Given the description of an element on the screen output the (x, y) to click on. 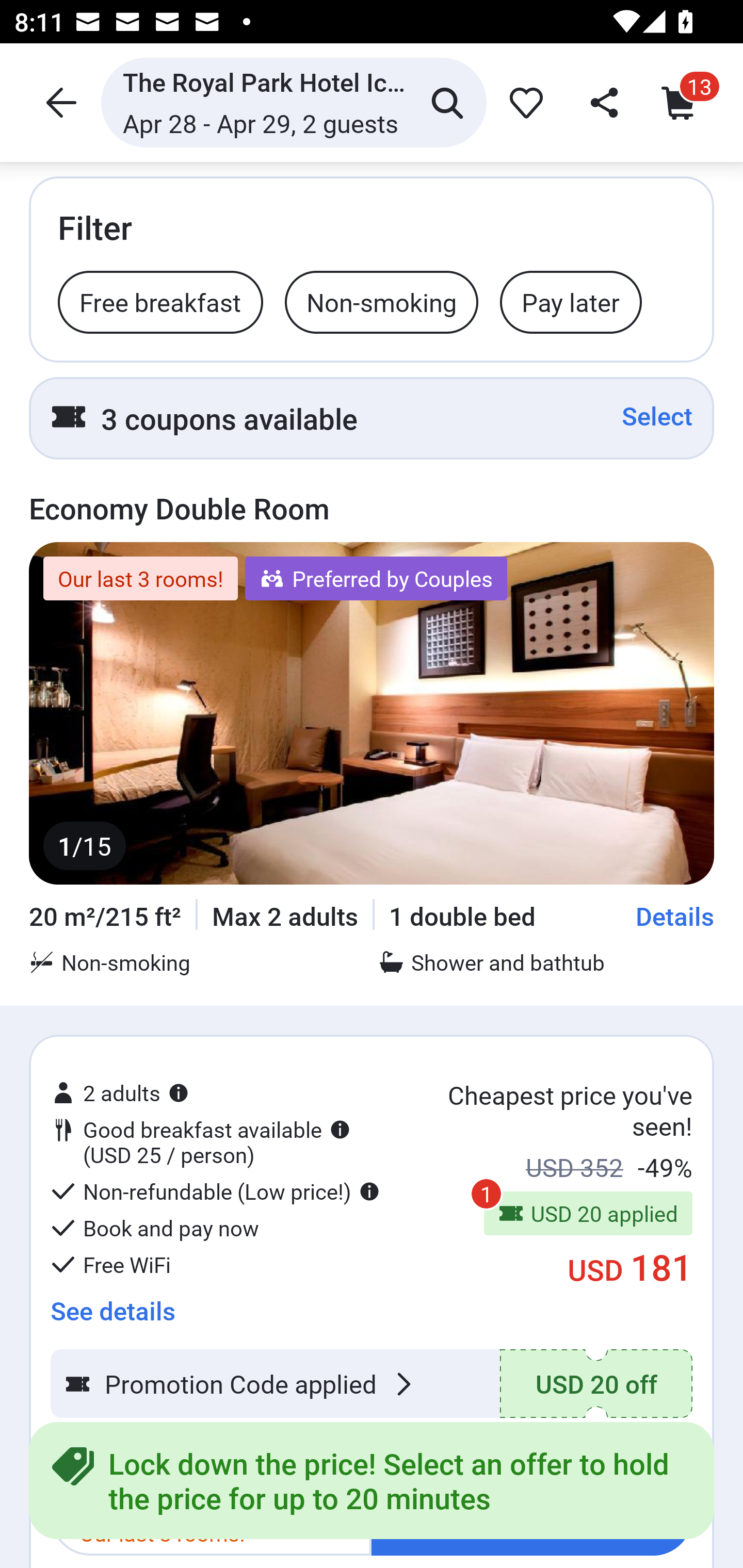
header icon (59, 102)
favorite_icon 0dbe6efb (522, 102)
share_header_icon (601, 102)
Cart icon cart_item_count 13 (683, 102)
Free breakfast (160, 301)
Non-smoking (381, 301)
Pay later (570, 301)
Select (656, 416)
3 coupons available Select (371, 417)
image (371, 713)
Details (674, 916)
2 adults (119, 1073)
Good breakfast available (USD 25 / person) (200, 1123)
Non-refundable (Low price!) (215, 1191)
See details (112, 1303)
